Given the description of an element on the screen output the (x, y) to click on. 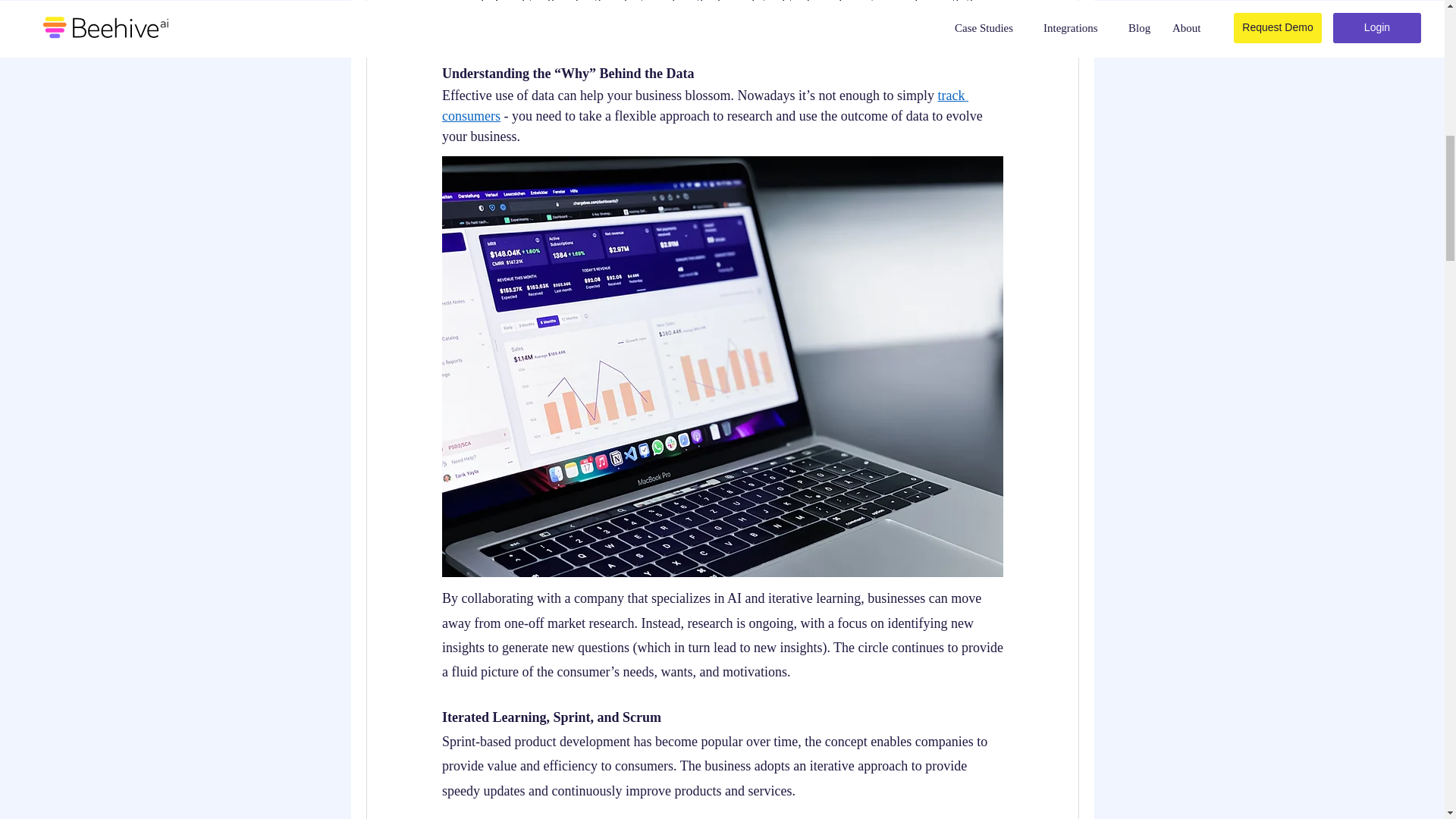
track consumers (704, 105)
